Given the description of an element on the screen output the (x, y) to click on. 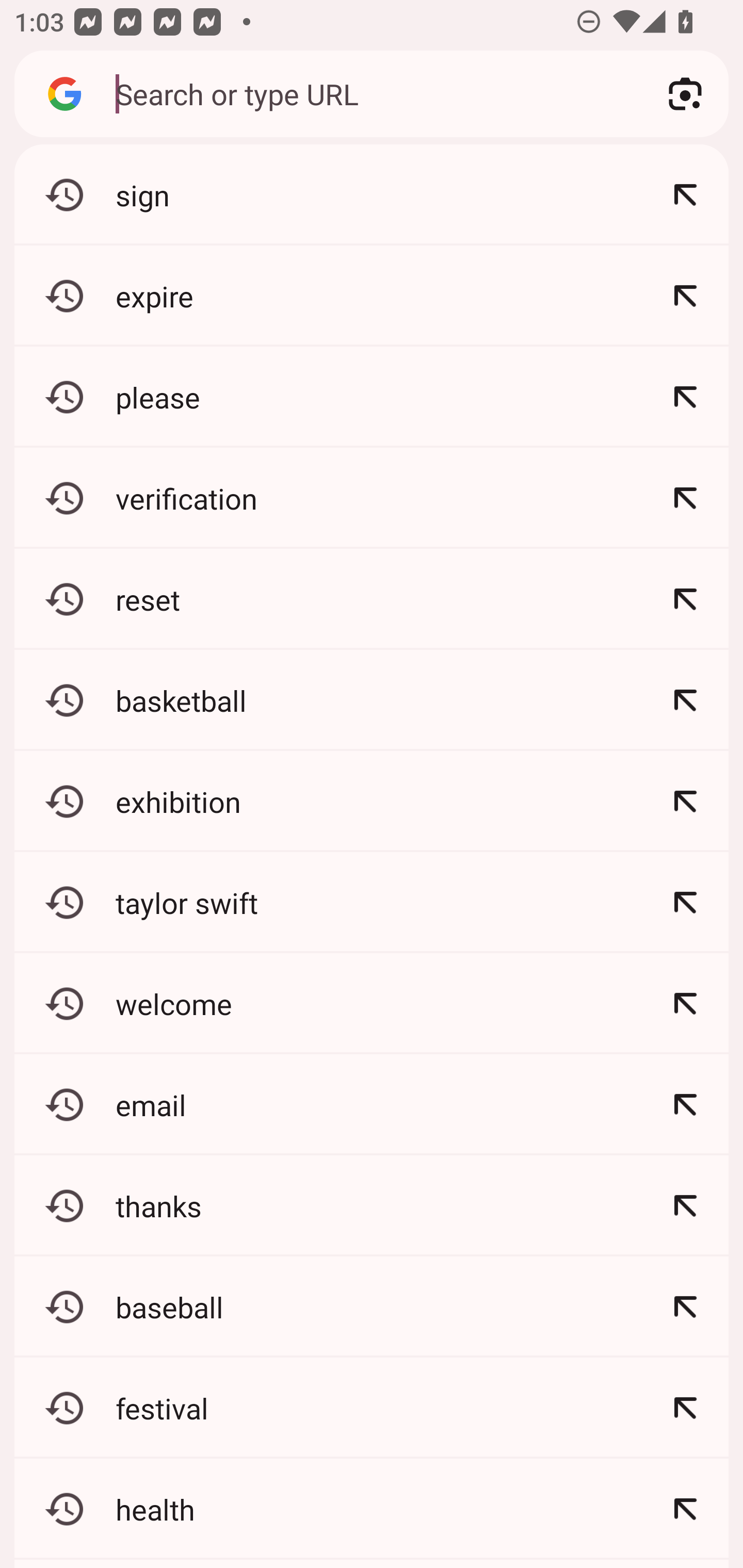
Search with your camera using Google Lens (684, 93)
Search or type URL (367, 92)
sign Refine: sign (371, 195)
Refine: sign (684, 195)
expire Refine: expire (371, 296)
Refine: expire (684, 296)
please Refine: please (371, 397)
Refine: please (684, 397)
verification Refine: verification (371, 498)
Refine: verification (684, 498)
reset Refine: reset (371, 598)
Refine: reset (684, 598)
basketball Refine: basketball (371, 700)
Refine: basketball (684, 700)
Options for Discover (684, 743)
exhibition Refine: exhibition (371, 801)
Refine: exhibition (684, 801)
taylor swift Refine: taylor swift (371, 902)
Refine: taylor swift (684, 902)
welcome Refine: welcome (371, 1003)
Refine: welcome (684, 1003)
email Refine: email (371, 1104)
Refine: email (684, 1104)
thanks Refine: thanks (371, 1205)
Refine: thanks (684, 1205)
baseball Refine: baseball (371, 1306)
Refine: baseball (684, 1306)
festival Refine: festival (371, 1407)
Refine: festival (684, 1407)
health Refine: health (371, 1509)
Refine: health (684, 1509)
